Given the description of an element on the screen output the (x, y) to click on. 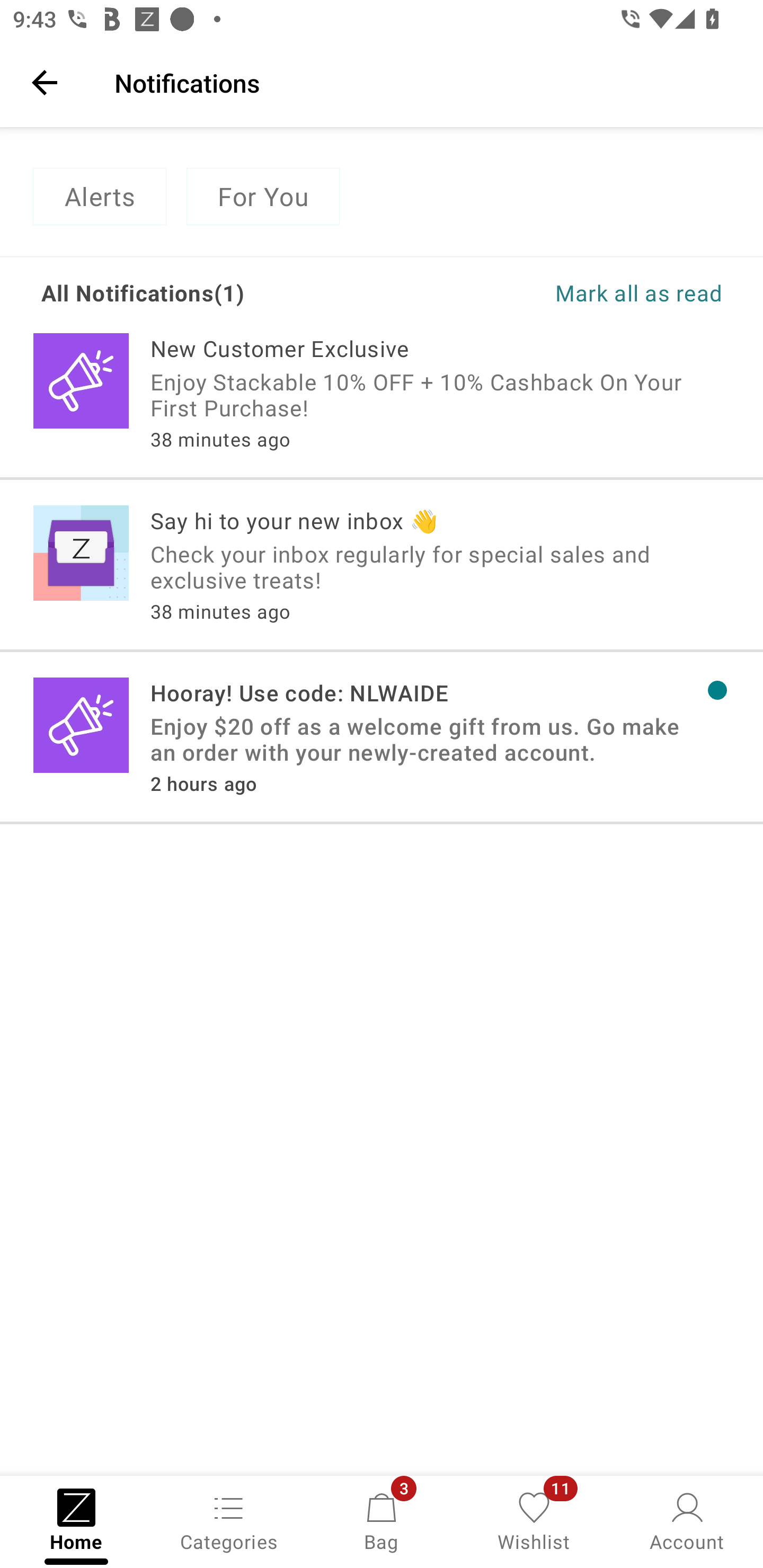
Navigate up (44, 82)
Notifications (426, 82)
Alerts (99, 196)
For You (262, 196)
Mark all as read (551, 292)
Categories (228, 1519)
Bag, 3 new notifications Bag (381, 1519)
Wishlist, 11 new notifications Wishlist (533, 1519)
Account (686, 1519)
